Given the description of an element on the screen output the (x, y) to click on. 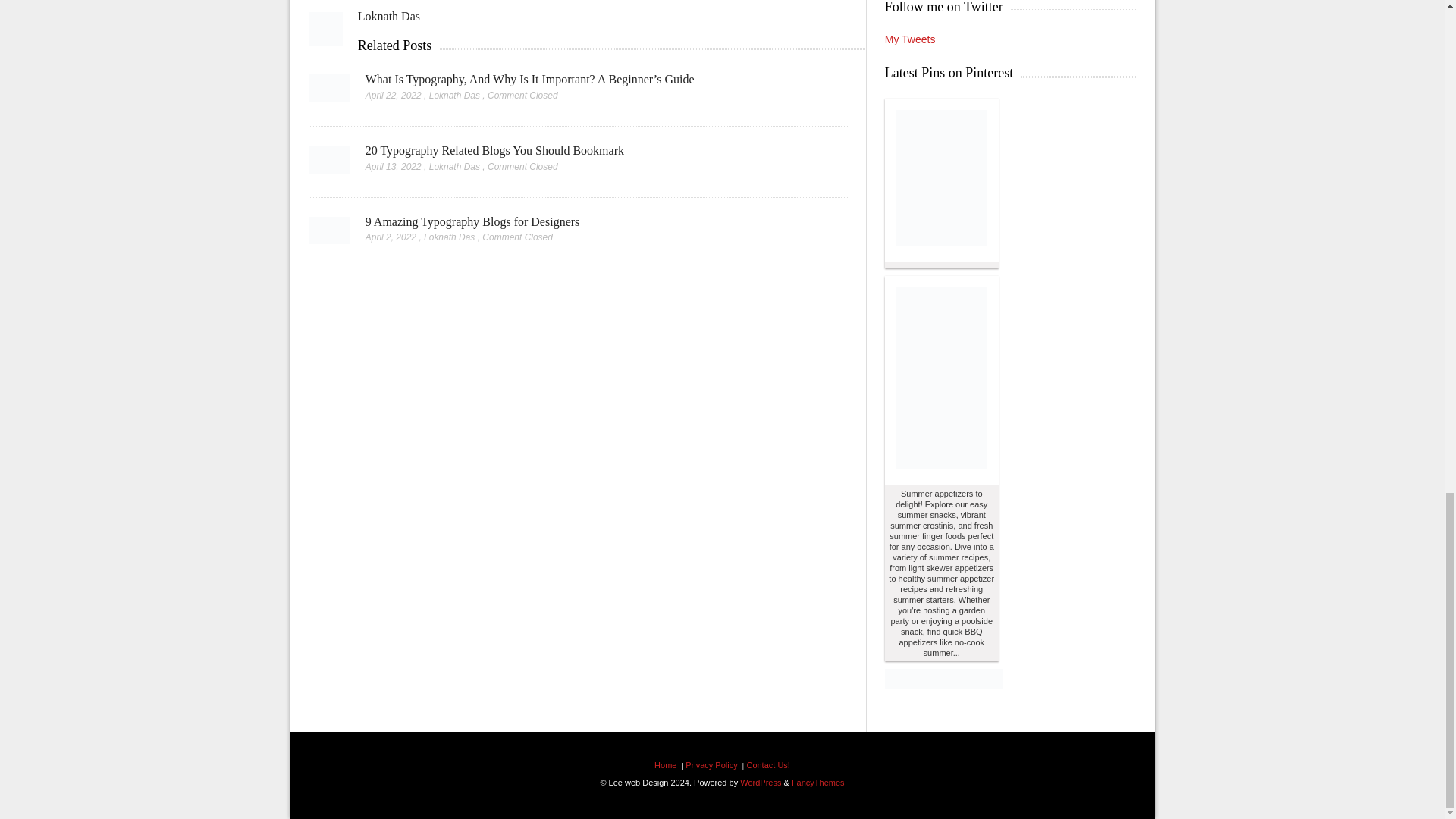
20 Typography Related Blogs You Should Bookmark (329, 163)
9 Amazing Typography Blogs for Designers (472, 221)
Posts by Loknath Das (389, 15)
Posts by Loknath Das (454, 166)
9 Amazing Typography Blogs for Designers (329, 234)
20 Typography Related Blogs You Should Bookmark (494, 150)
Loknath Das (454, 95)
20 Typography Related Blogs You Should Bookmark (494, 150)
Posts by Loknath Das (454, 95)
Loknath Das (389, 15)
